Given the description of an element on the screen output the (x, y) to click on. 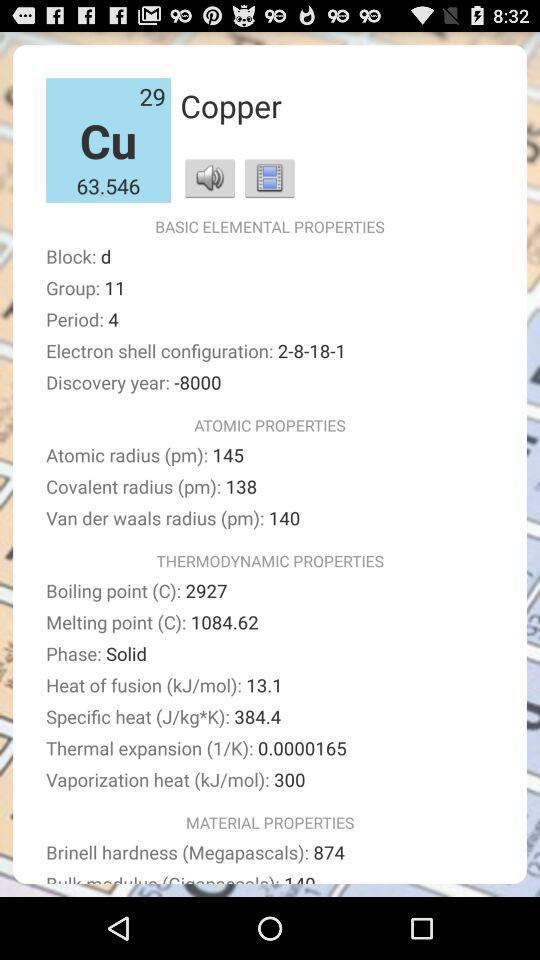
tap app below the copper icon (210, 177)
